Given the description of an element on the screen output the (x, y) to click on. 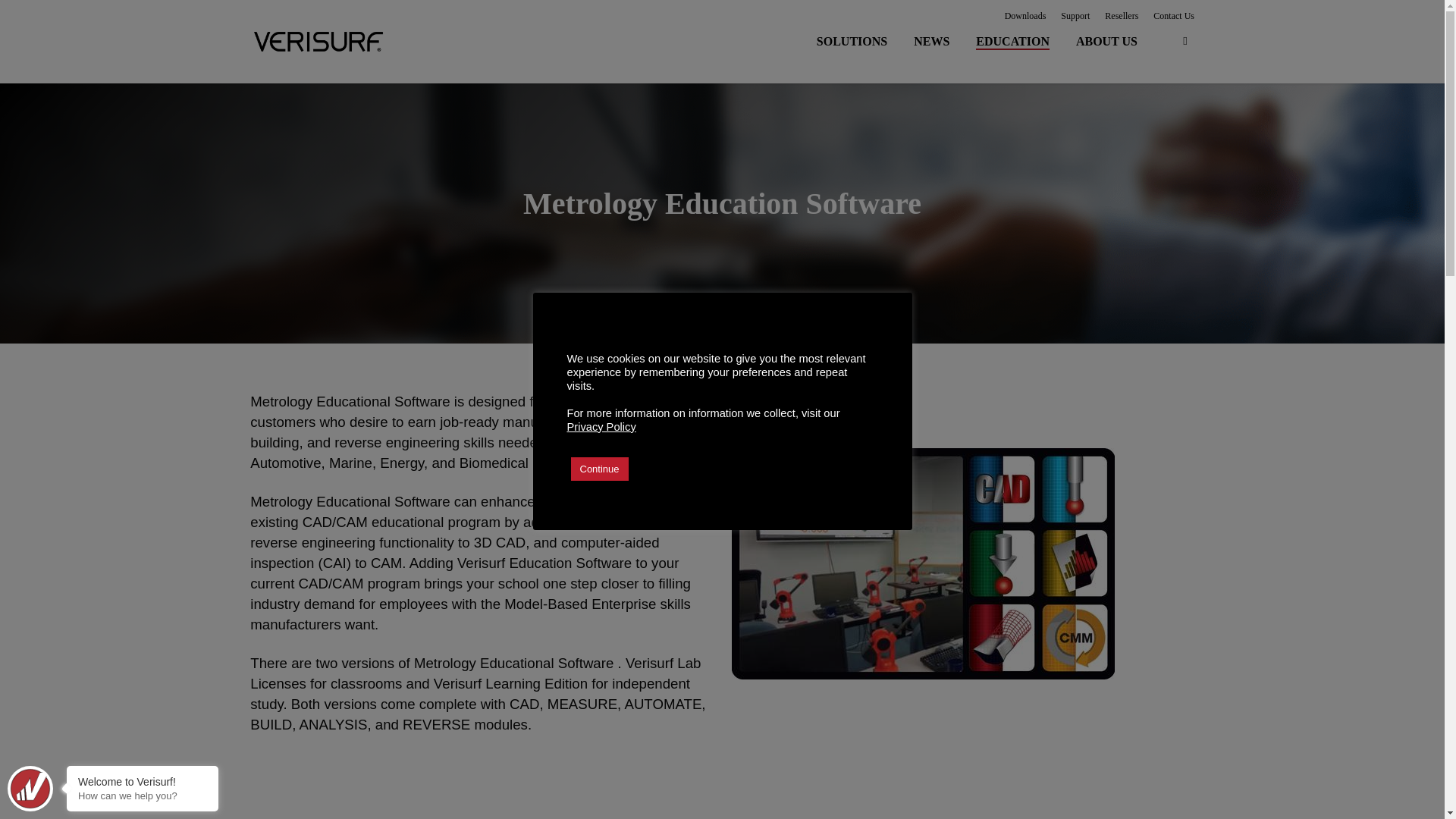
How can we help you? (142, 795)
Welcome to Verisurf! (142, 781)
Contact Us (1173, 15)
SOLUTIONS (855, 41)
Support (1075, 15)
Downloads (1025, 15)
3D Metrology Software, Training and CMMs (318, 41)
Resellers (1121, 15)
metrology-education-2 (923, 563)
